Given the description of an element on the screen output the (x, y) to click on. 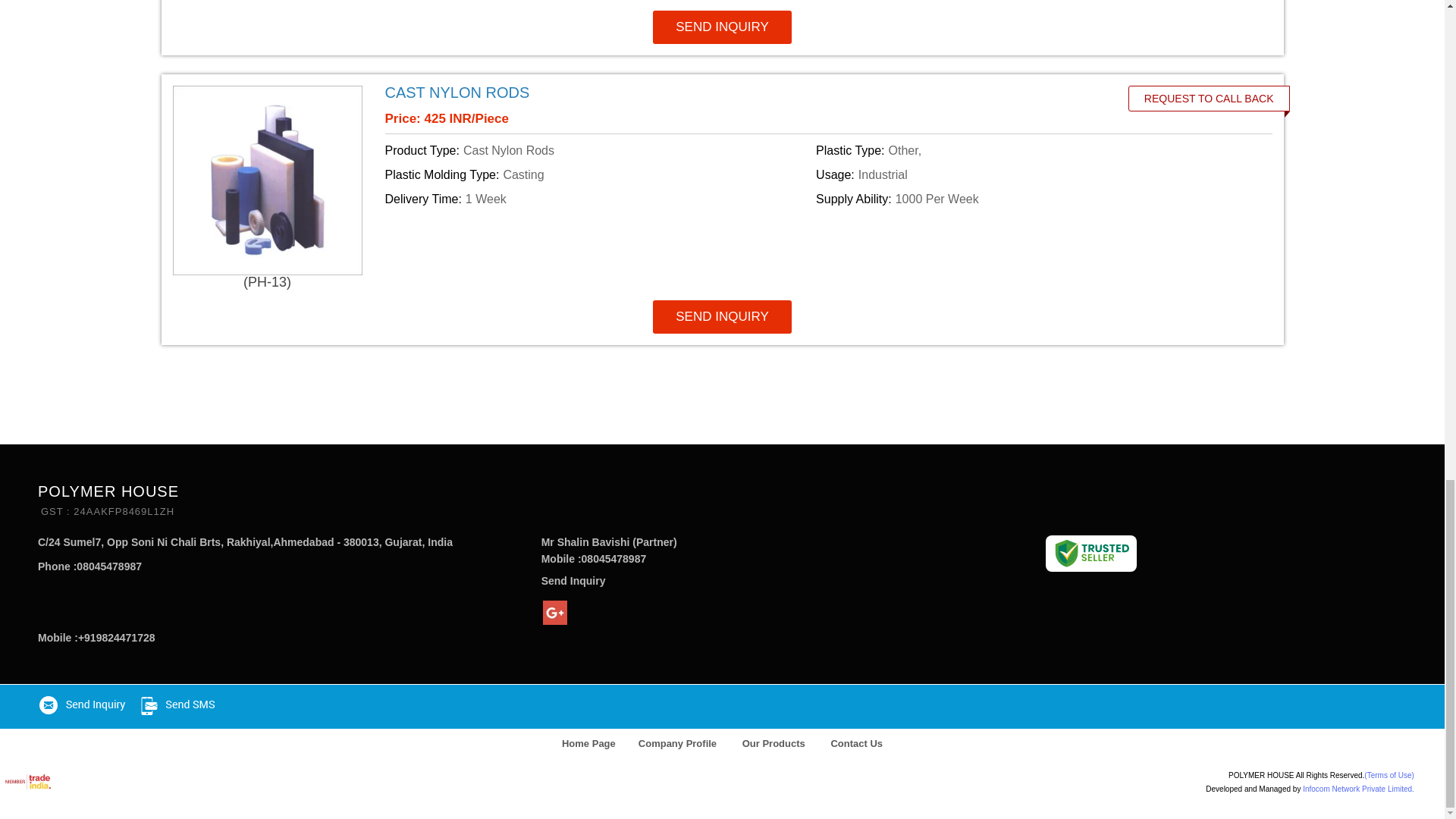
SEND INQUIRY (722, 27)
REQUEST TO CALL BACK (1208, 98)
SEND INQUIRY (722, 316)
CAST NYLON RODS (457, 92)
